Given the description of an element on the screen output the (x, y) to click on. 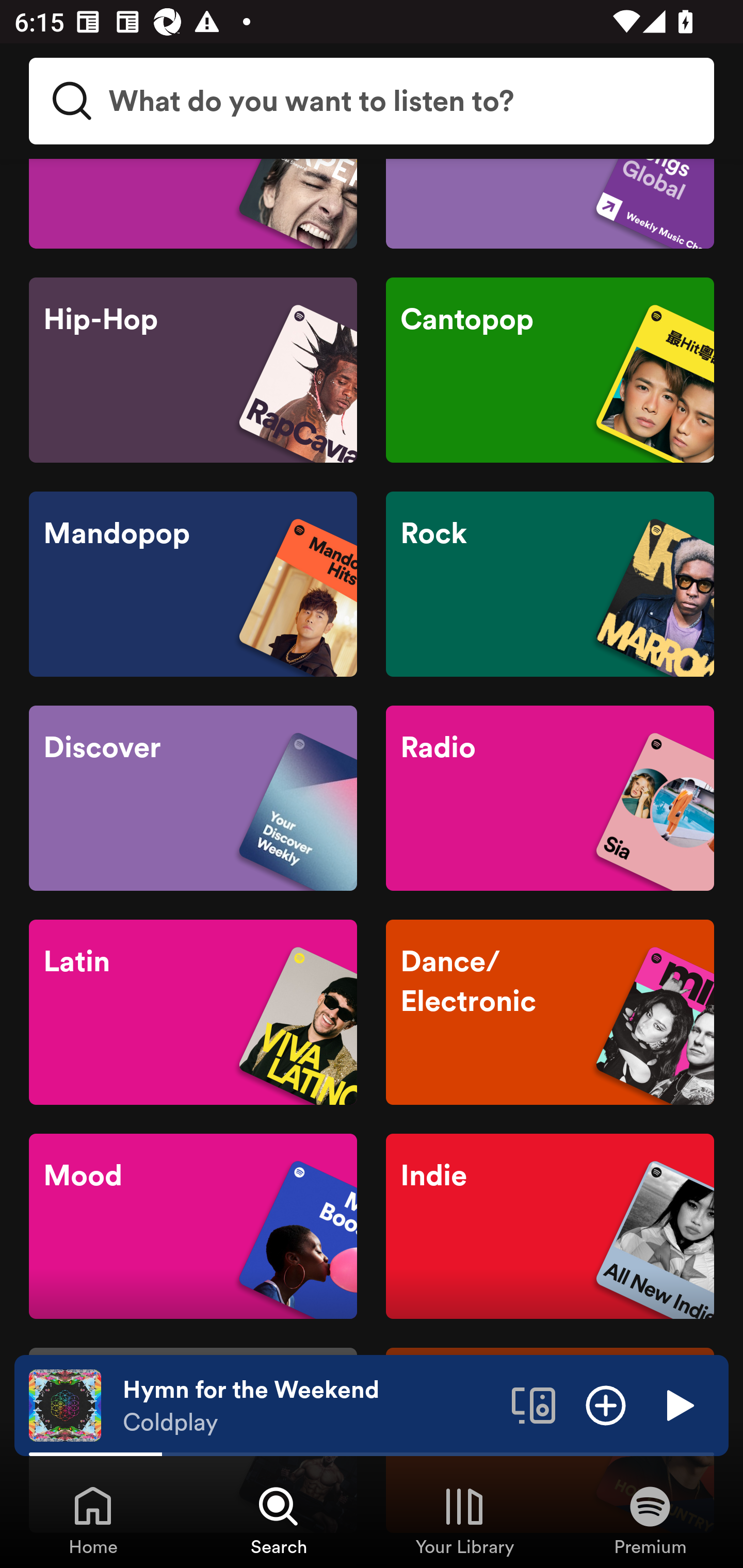
Comedy (192, 203)
Charts (549, 203)
Hip-Hop (192, 369)
Cantopop (549, 369)
Mandopop (192, 583)
Rock (549, 583)
Discover (192, 797)
Radio (549, 797)
Latin (192, 1012)
Dance/Electronic (549, 1012)
Mood (192, 1225)
Indie (549, 1225)
Hymn for the Weekend Coldplay (309, 1405)
The cover art of the currently playing track (64, 1404)
Connect to a device. Opens the devices menu (533, 1404)
Add item (605, 1404)
Play (677, 1404)
Home, Tab 1 of 4 Home Home (92, 1519)
Search, Tab 2 of 4 Search Search (278, 1519)
Your Library, Tab 3 of 4 Your Library Your Library (464, 1519)
Premium, Tab 4 of 4 Premium Premium (650, 1519)
